Given the description of an element on the screen output the (x, y) to click on. 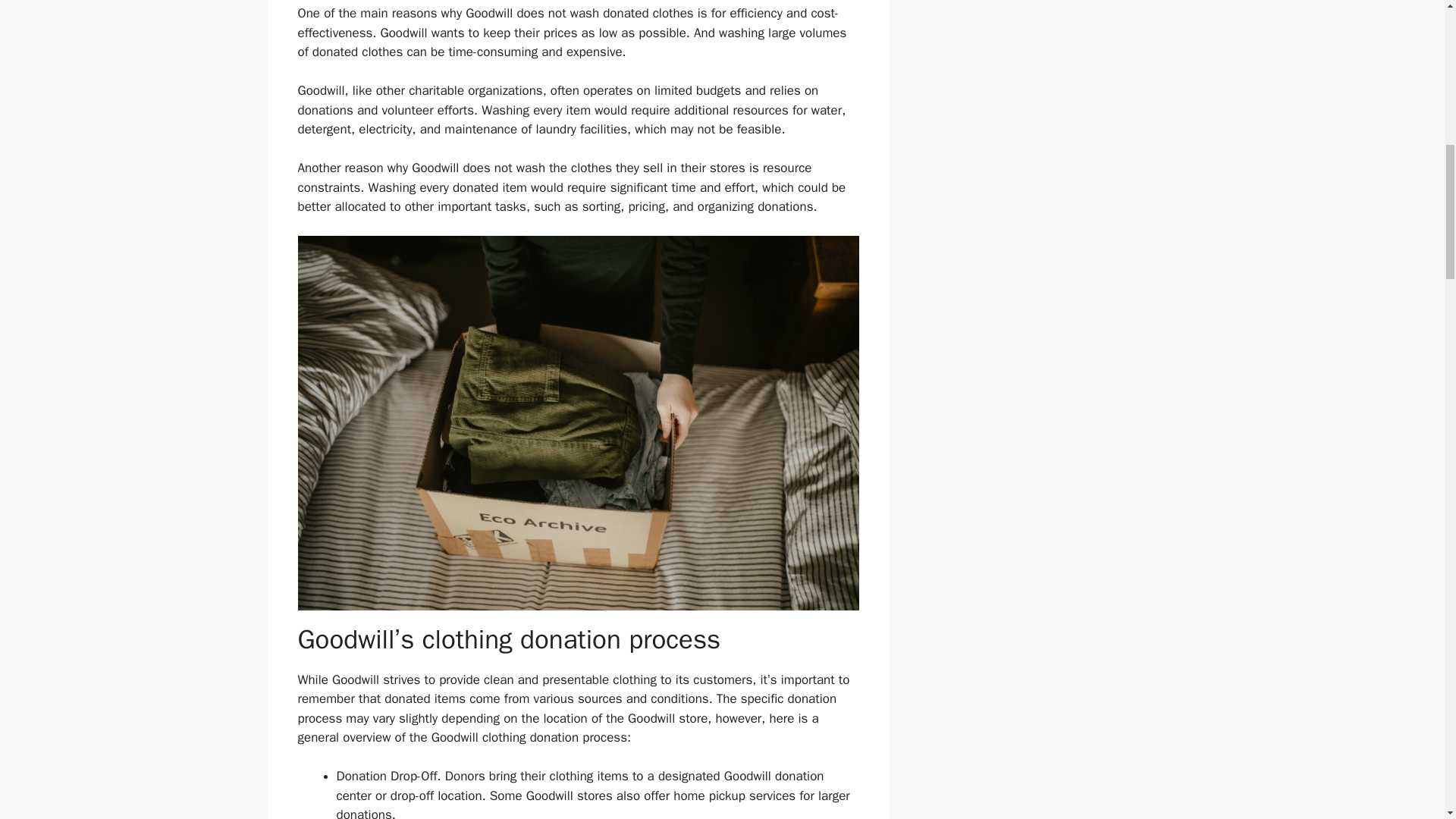
Scroll back to top (1406, 720)
